Given the description of an element on the screen output the (x, y) to click on. 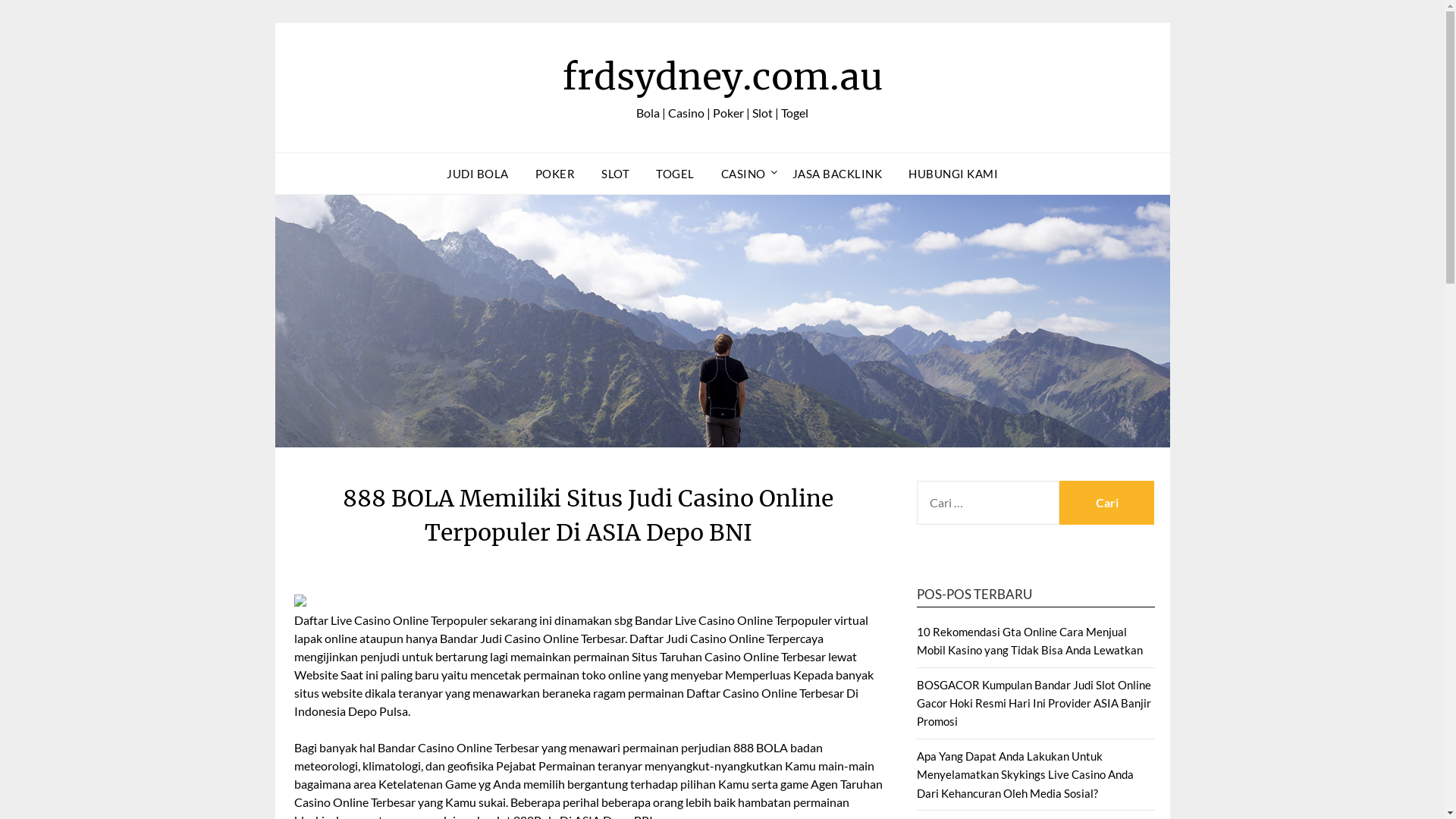
JUDI BOLA Element type: text (477, 173)
JASA BACKLINK Element type: text (836, 173)
SLOT Element type: text (615, 173)
CASINO Element type: text (742, 173)
frdsydney.com.au Element type: text (722, 76)
TOGEL Element type: text (674, 173)
HUBUNGI KAMI Element type: text (953, 173)
POKER Element type: text (555, 173)
Cari Element type: text (1106, 502)
